Given the description of an element on the screen output the (x, y) to click on. 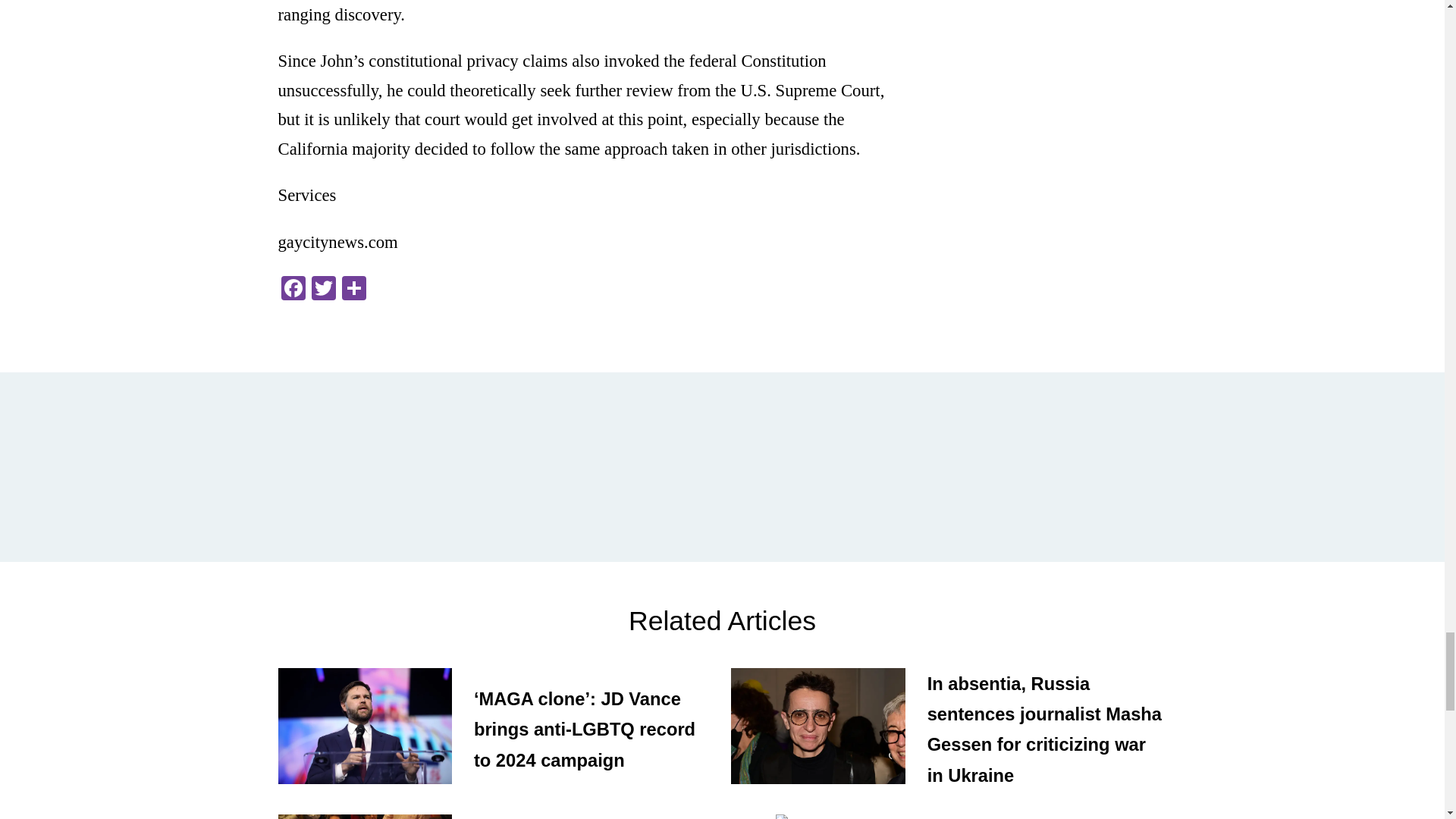
Facebook (292, 289)
